Given the description of an element on the screen output the (x, y) to click on. 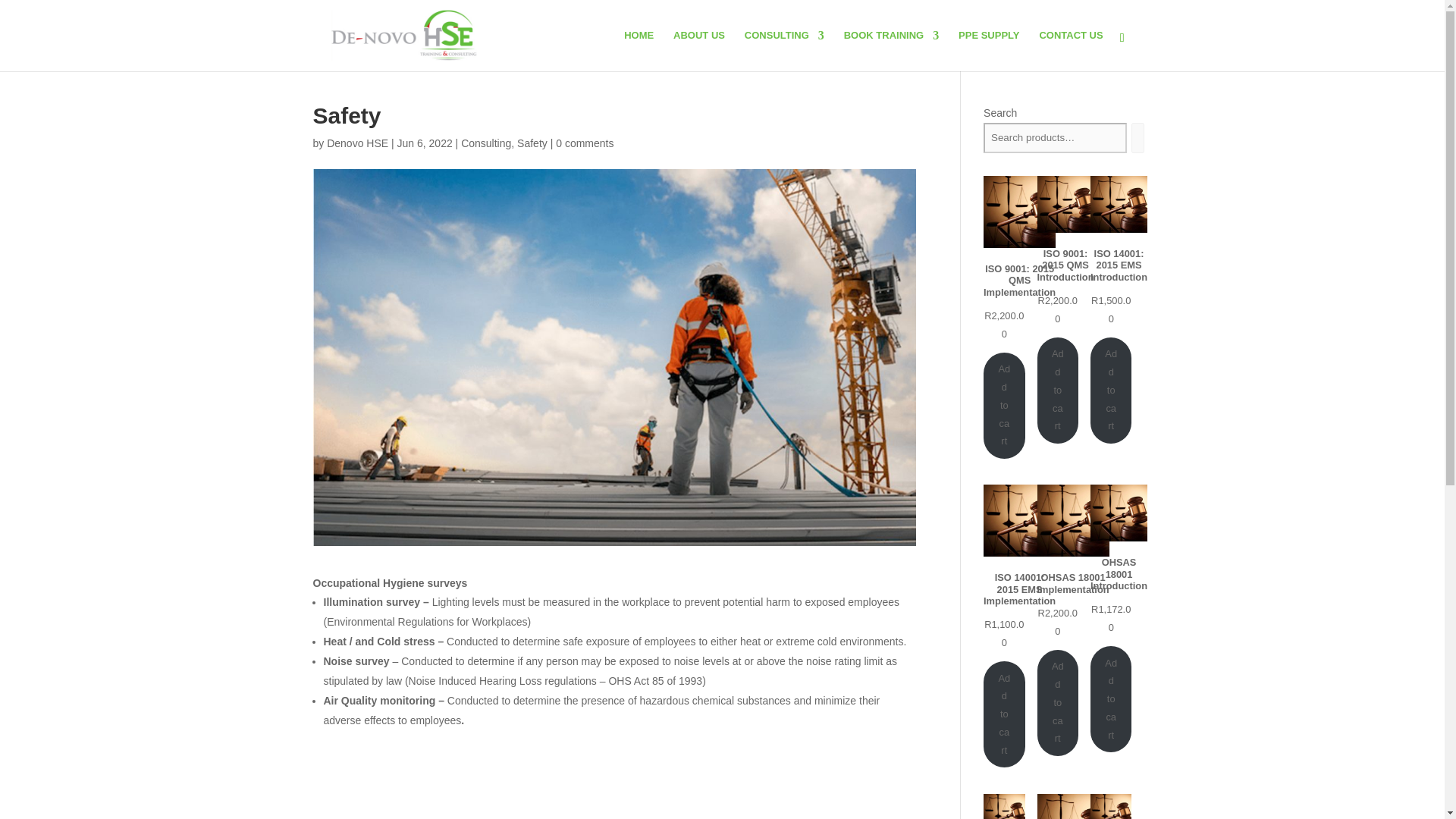
Posts by Denovo HSE (357, 143)
BOOK TRAINING (891, 50)
Denovo HSE (357, 143)
PPE SUPPLY (988, 50)
ABOUT US (698, 50)
Legal liability (1004, 806)
CONSULTING (784, 50)
Legal liability (1110, 806)
Consulting (486, 143)
Safety (531, 143)
